Given the description of an element on the screen output the (x, y) to click on. 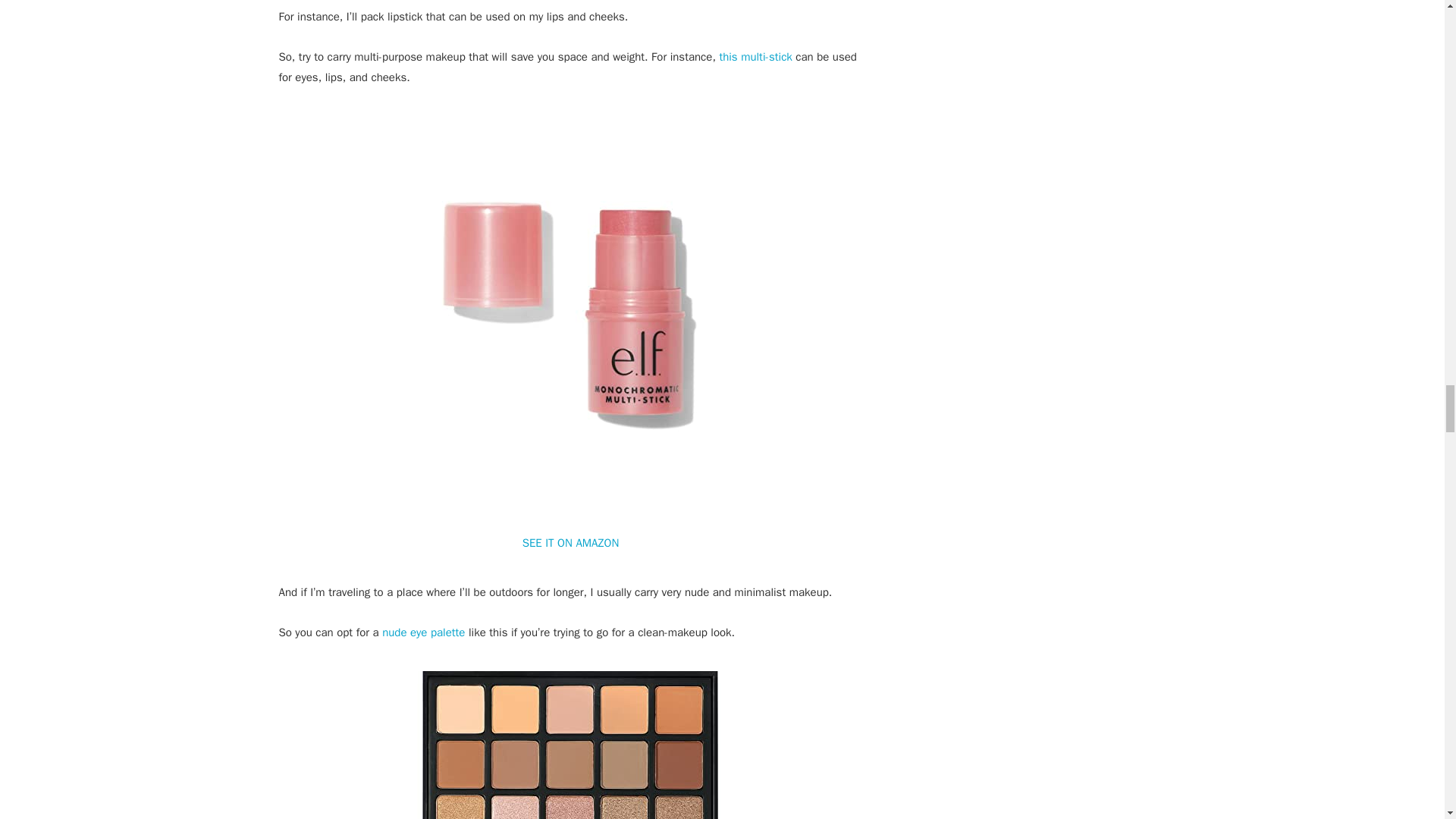
SEE IT ON AMAZON (571, 542)
nude eye palette (422, 632)
this multi-stick (755, 56)
